Given the description of an element on the screen output the (x, y) to click on. 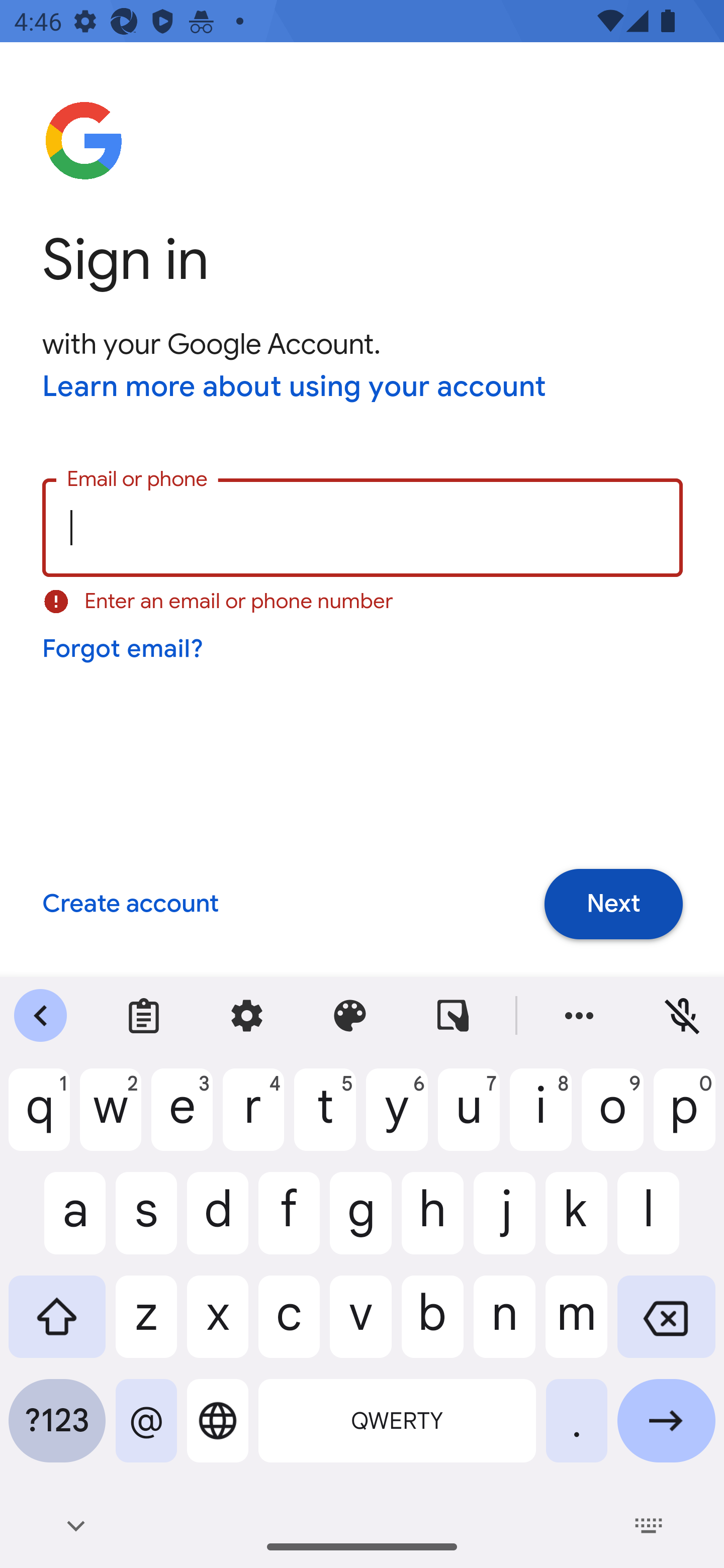
Learn more about using your account (294, 388)
Forgot email? (123, 648)
Next (613, 903)
Create account (129, 904)
